Given the description of an element on the screen output the (x, y) to click on. 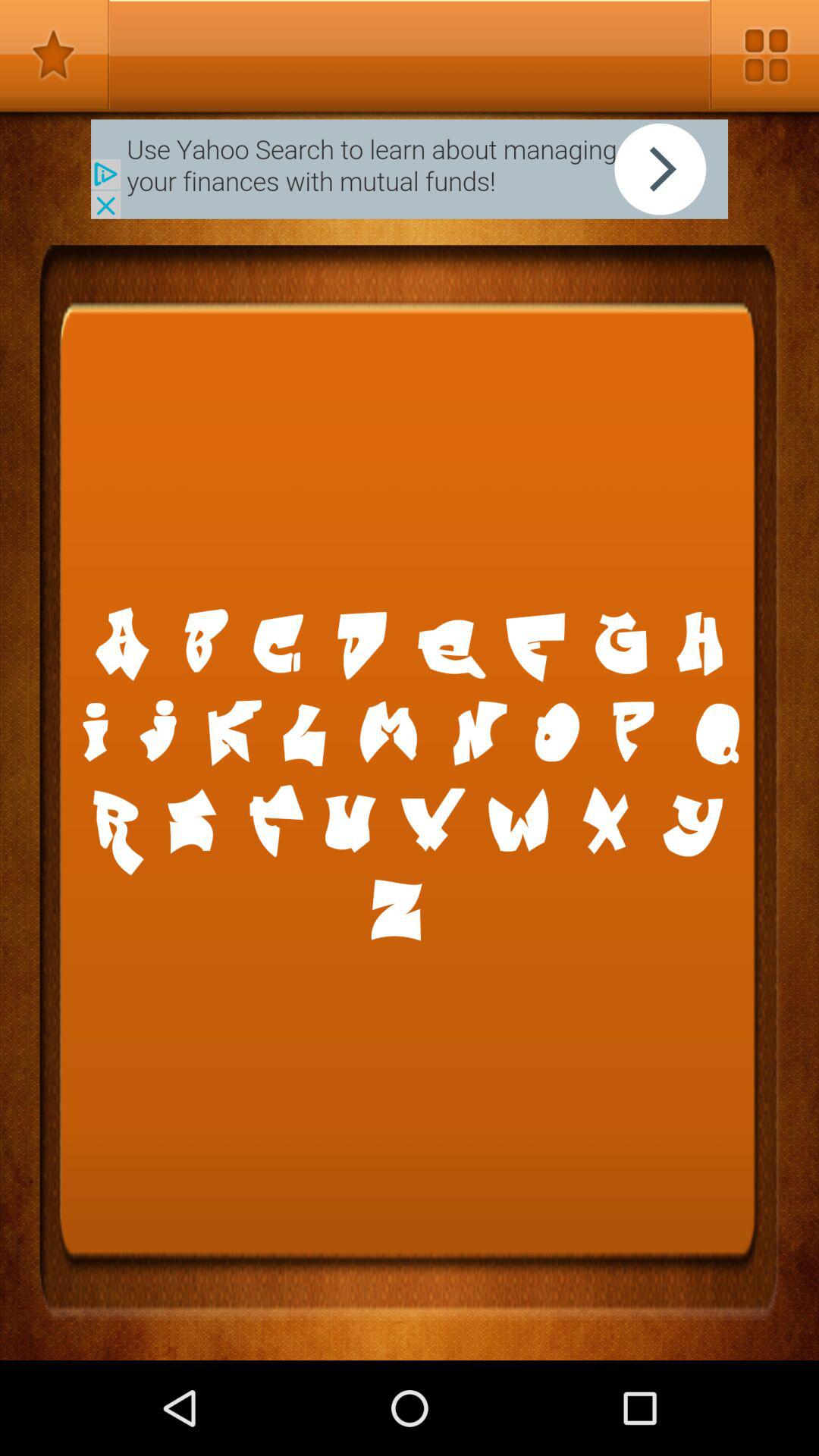
go to next (409, 168)
